Given the description of an element on the screen output the (x, y) to click on. 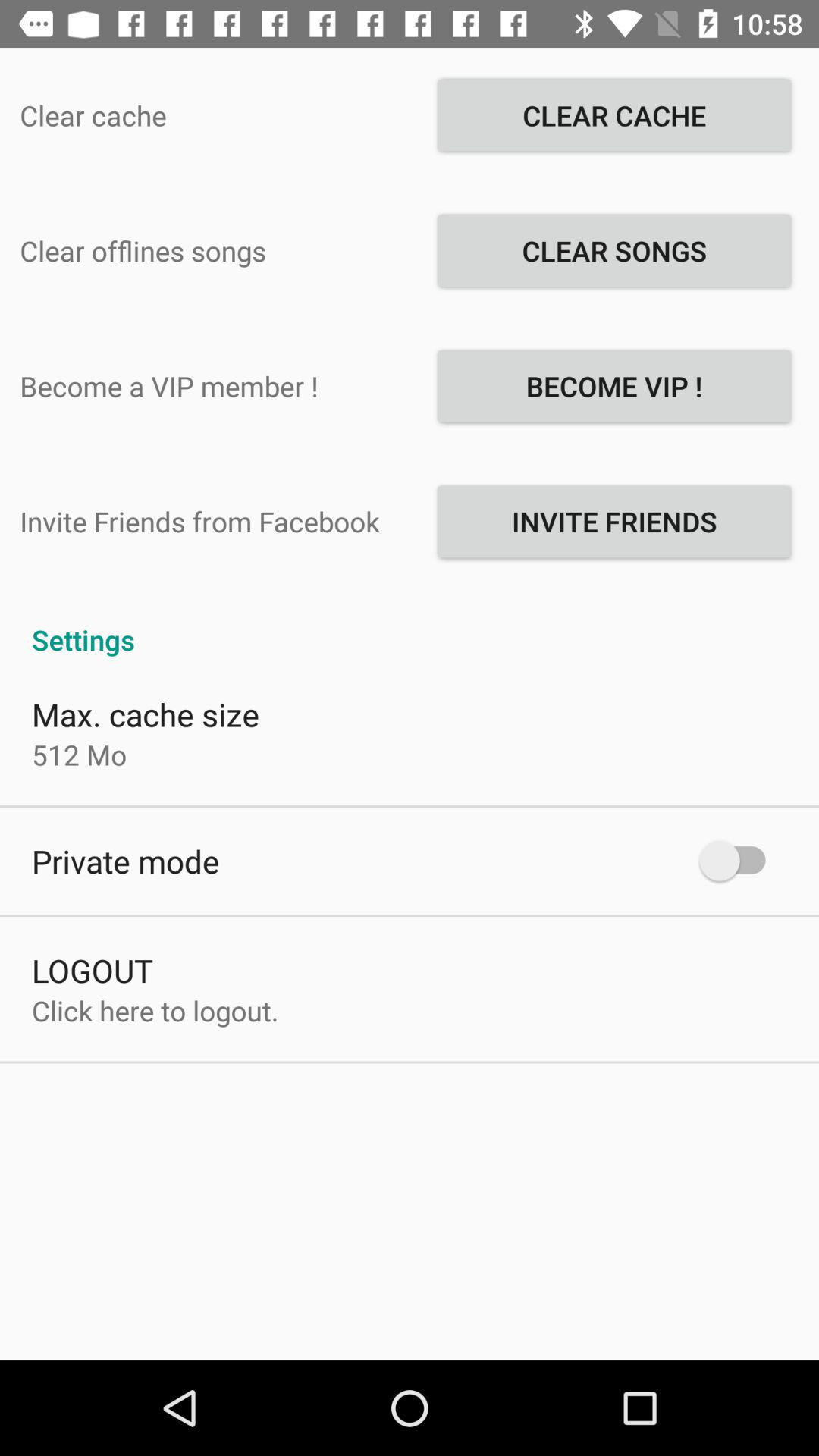
swipe until private mode icon (125, 860)
